Given the description of an element on the screen output the (x, y) to click on. 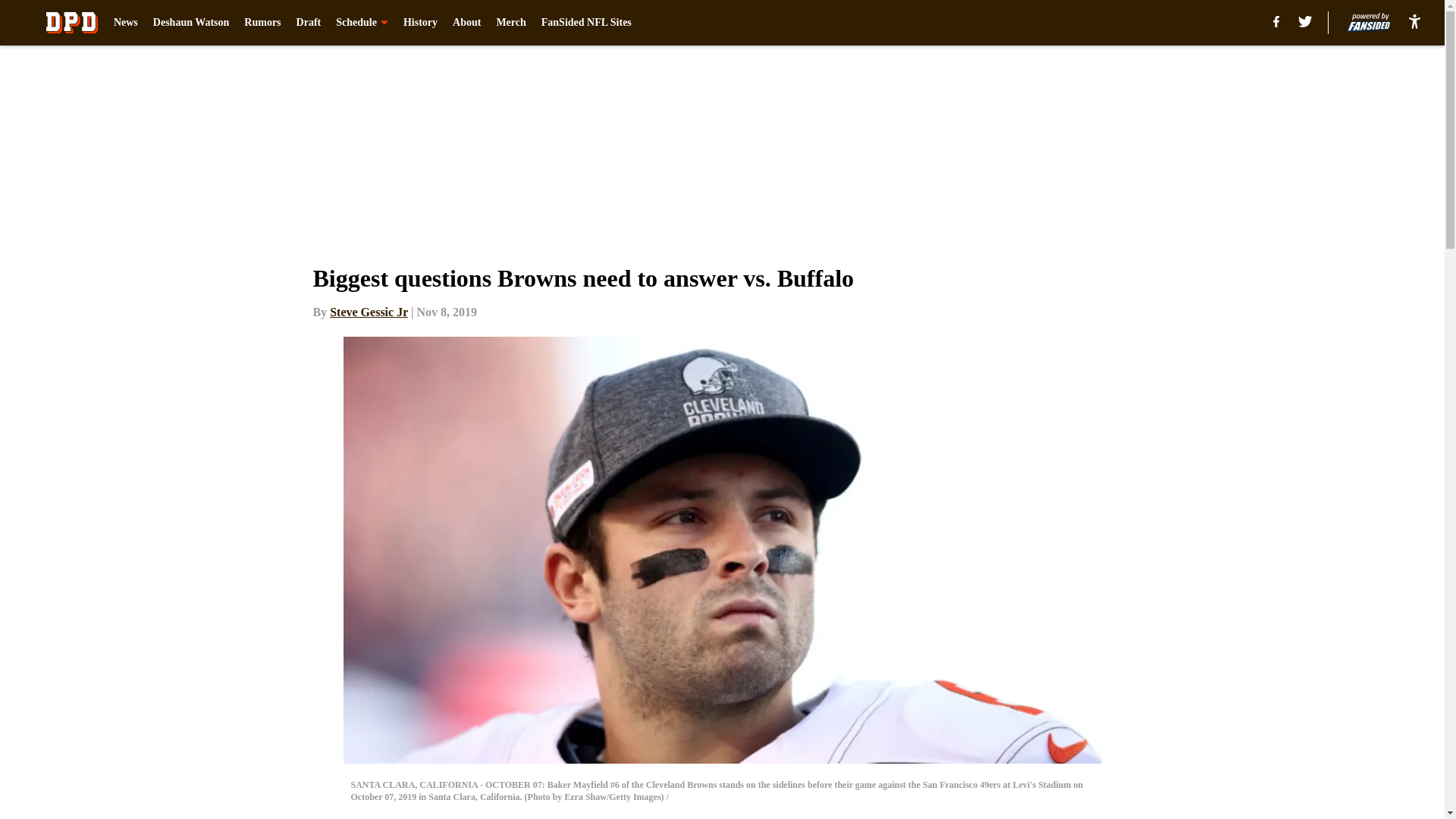
FanSided NFL Sites (586, 22)
Deshaun Watson (191, 22)
About (466, 22)
Draft (309, 22)
News (125, 22)
Steve Gessic Jr (368, 311)
Rumors (262, 22)
History (420, 22)
Merch (510, 22)
